Given the description of an element on the screen output the (x, y) to click on. 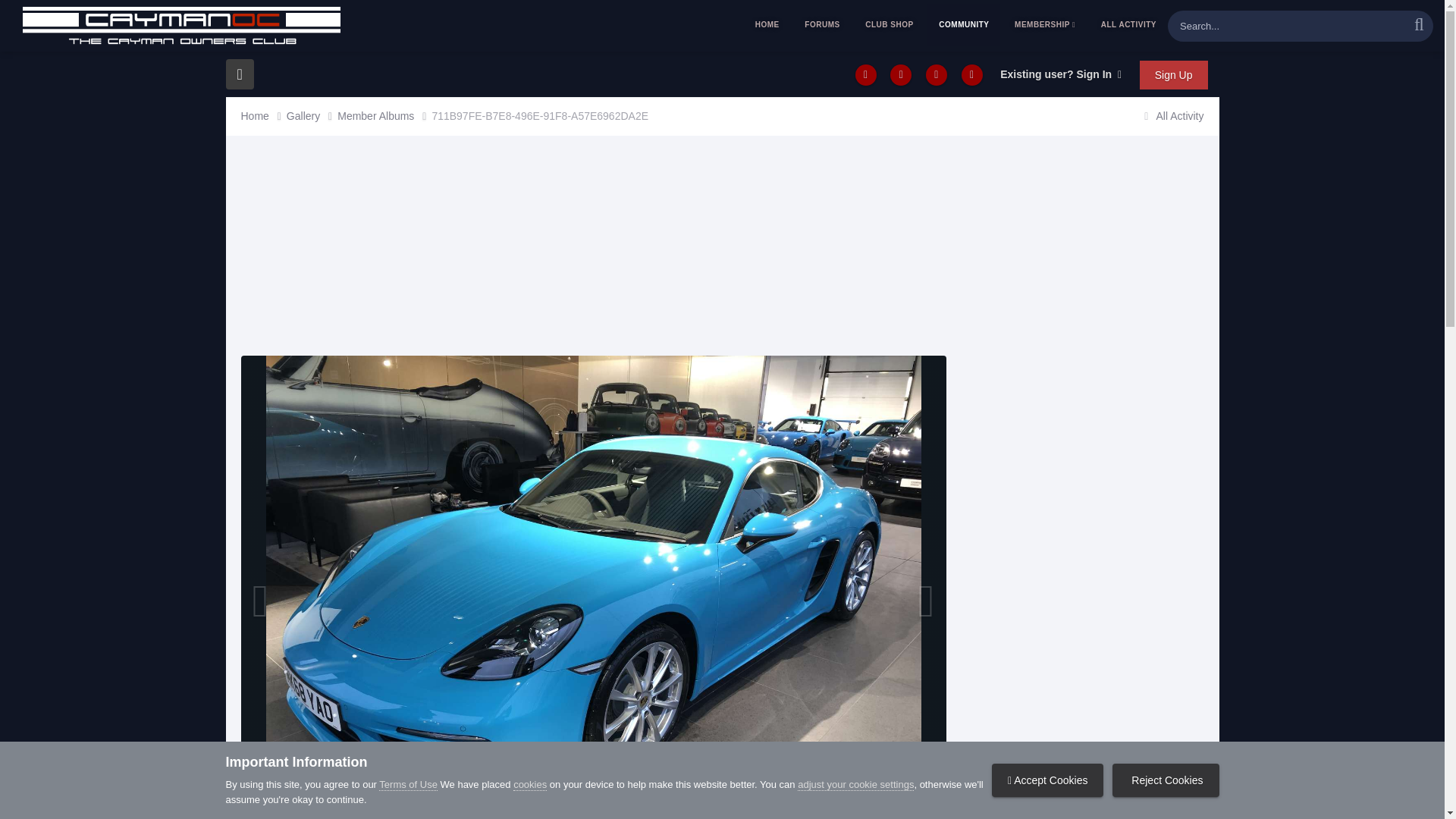
Member Albums (383, 116)
COMMUNITY (963, 24)
MEMBERSHIP (1044, 24)
Home (263, 116)
All Activity (1171, 115)
CLUB SHOP (888, 24)
ALL ACTIVITY (1128, 24)
Home (263, 116)
Existing user? Sign In   (1060, 73)
HOME (767, 24)
Sign Up (1174, 74)
FORUMS (821, 24)
Gallery (311, 116)
Advertisement (517, 249)
